Given the description of an element on the screen output the (x, y) to click on. 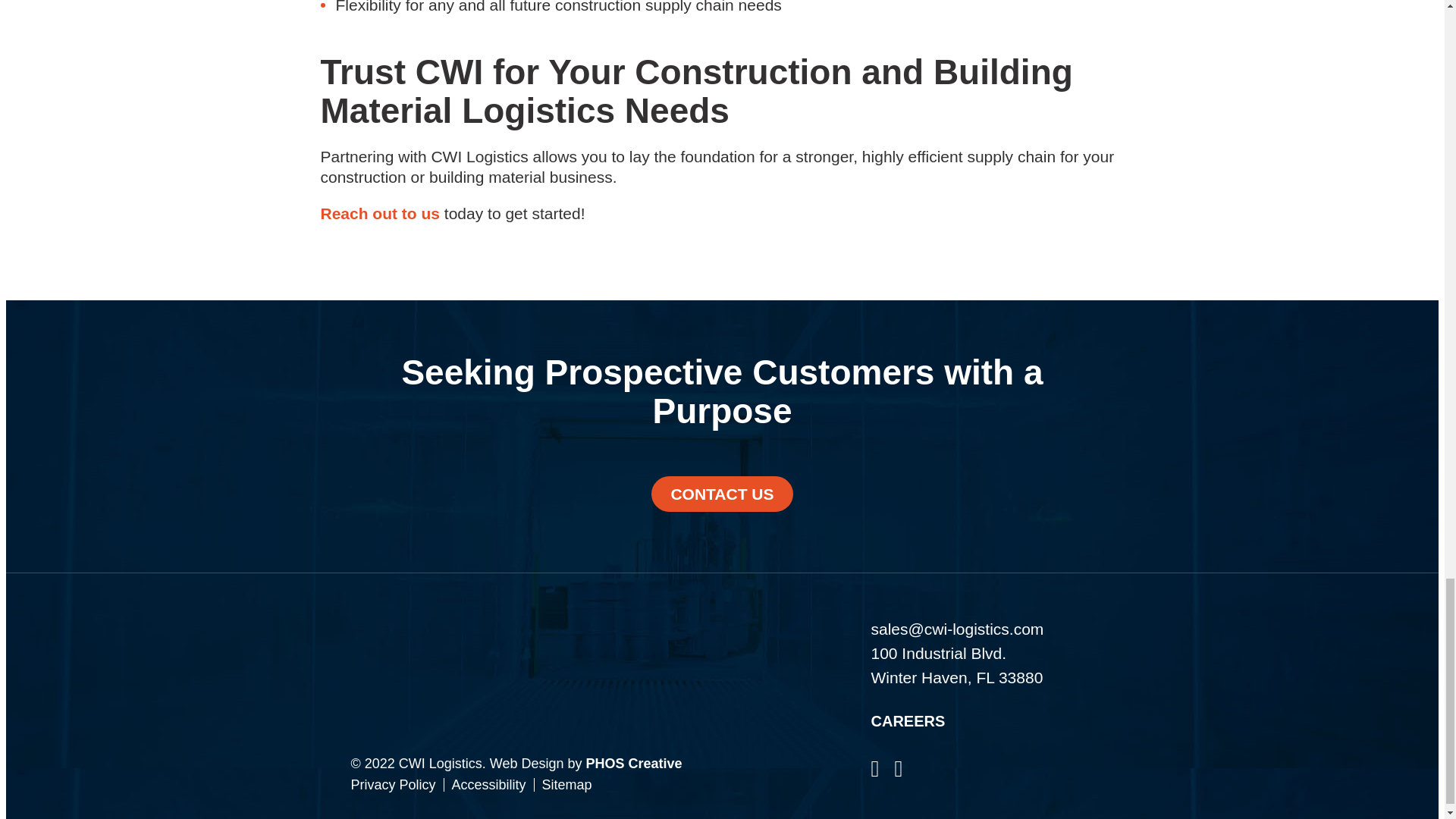
Email (981, 629)
Google Maps Link (981, 677)
Google Maps Link (981, 652)
Home URL (610, 714)
